Given the description of an element on the screen output the (x, y) to click on. 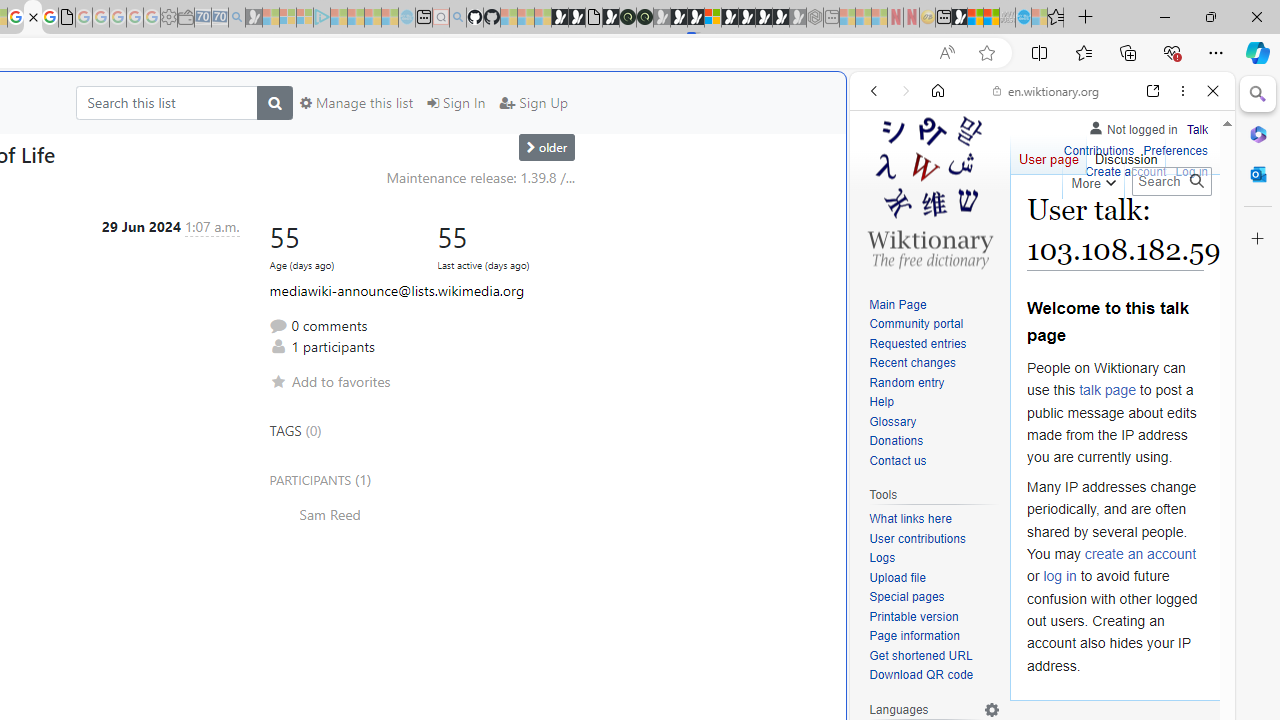
github - Search - Sleeping (457, 17)
Page information (934, 637)
Glossary (934, 421)
Home | Sky Blue Bikes - Sky Blue Bikes - Sleeping (406, 17)
WEB   (882, 228)
Upload file (897, 577)
Create account (1125, 169)
Global web icon (888, 669)
